Given the description of an element on the screen output the (x, y) to click on. 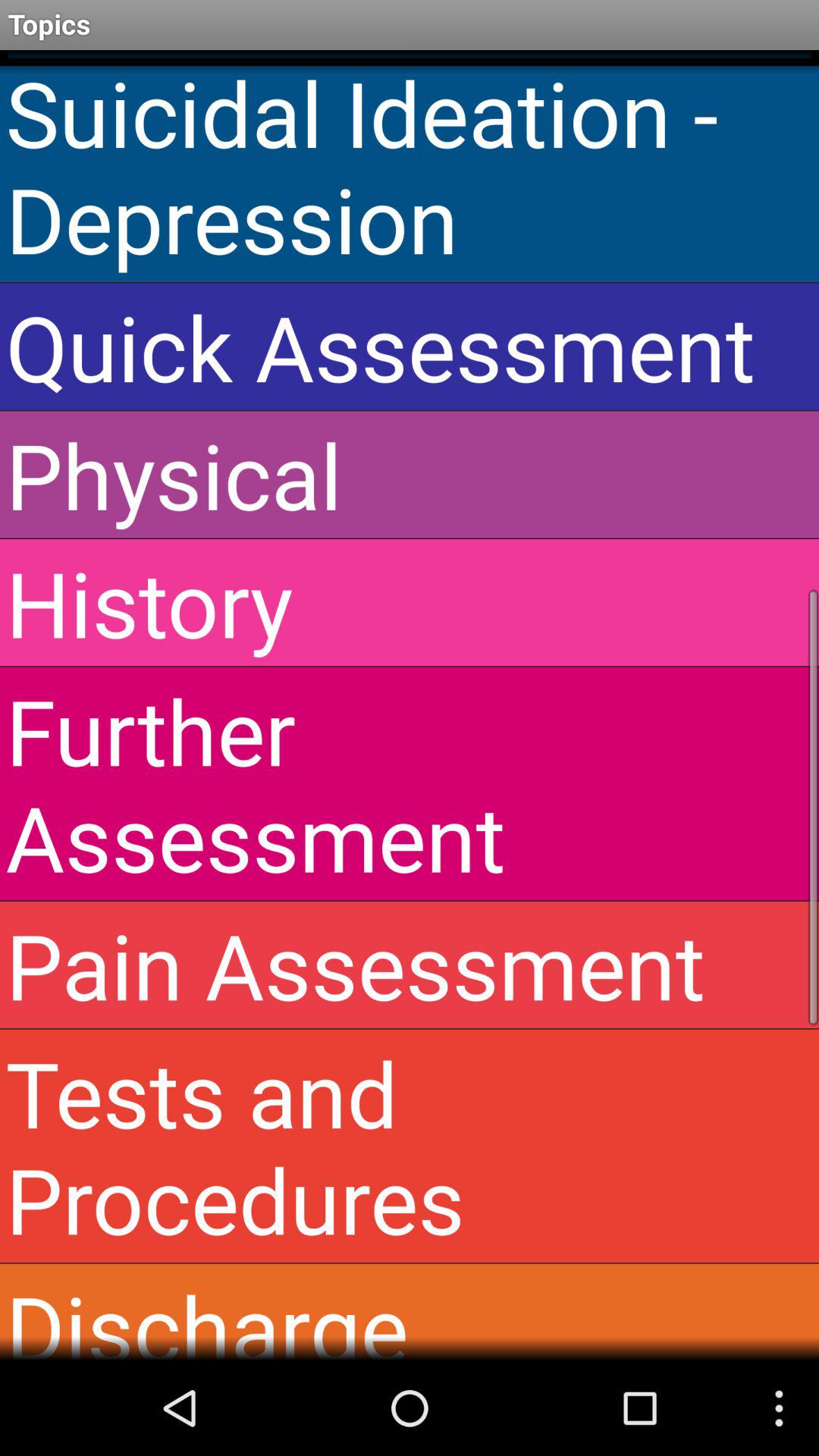
jump to the history icon (409, 602)
